Given the description of an element on the screen output the (x, y) to click on. 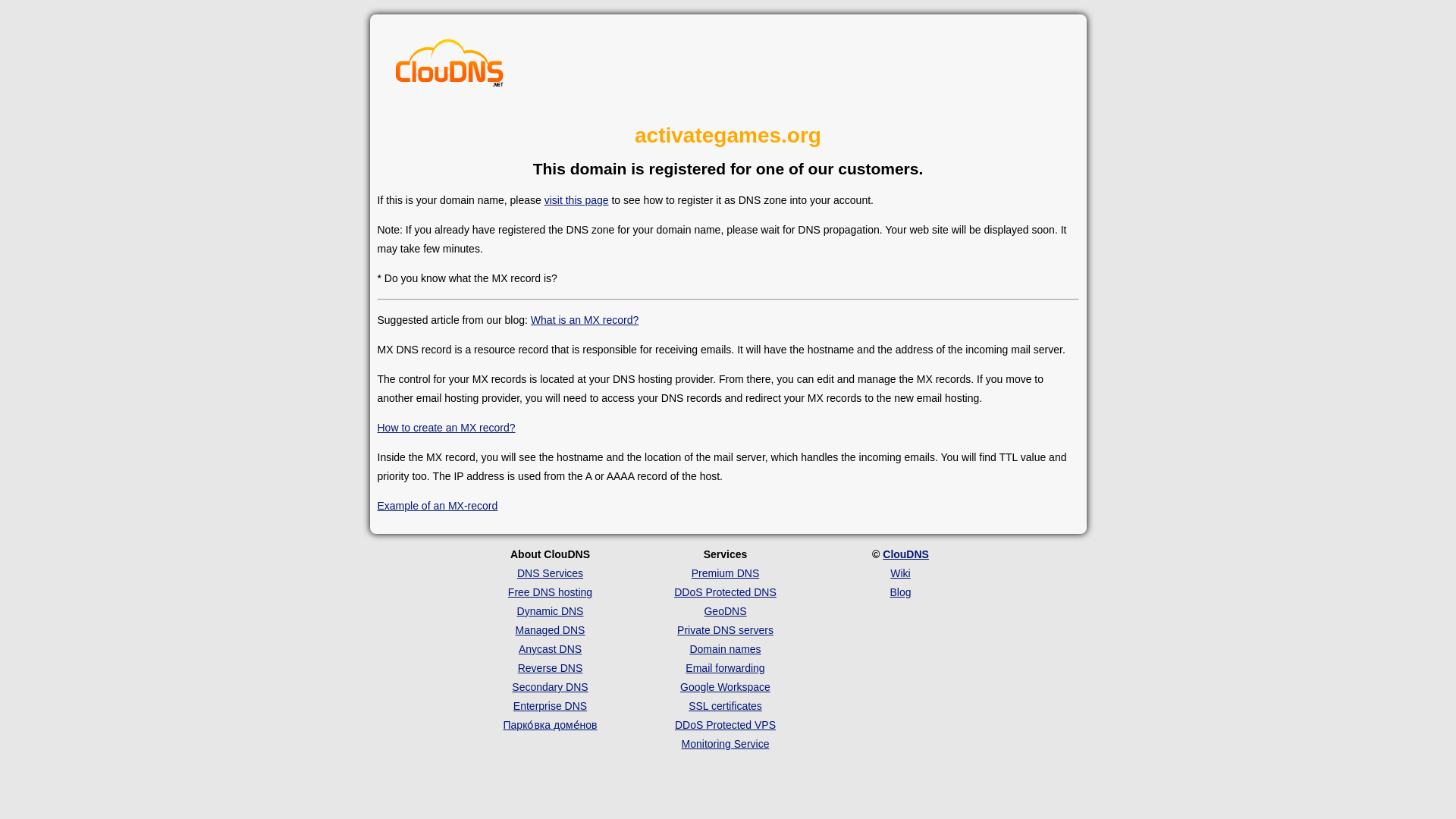
Wiki (899, 573)
DNS Services (549, 573)
Private DNS servers (725, 630)
DDoS Protected VPS (725, 725)
SSL certificates (724, 705)
How to create an MX record? (446, 427)
What is an MX record? (585, 319)
Domain names (724, 648)
Secondary DNS (550, 686)
Managed DNS (550, 630)
